Given the description of an element on the screen output the (x, y) to click on. 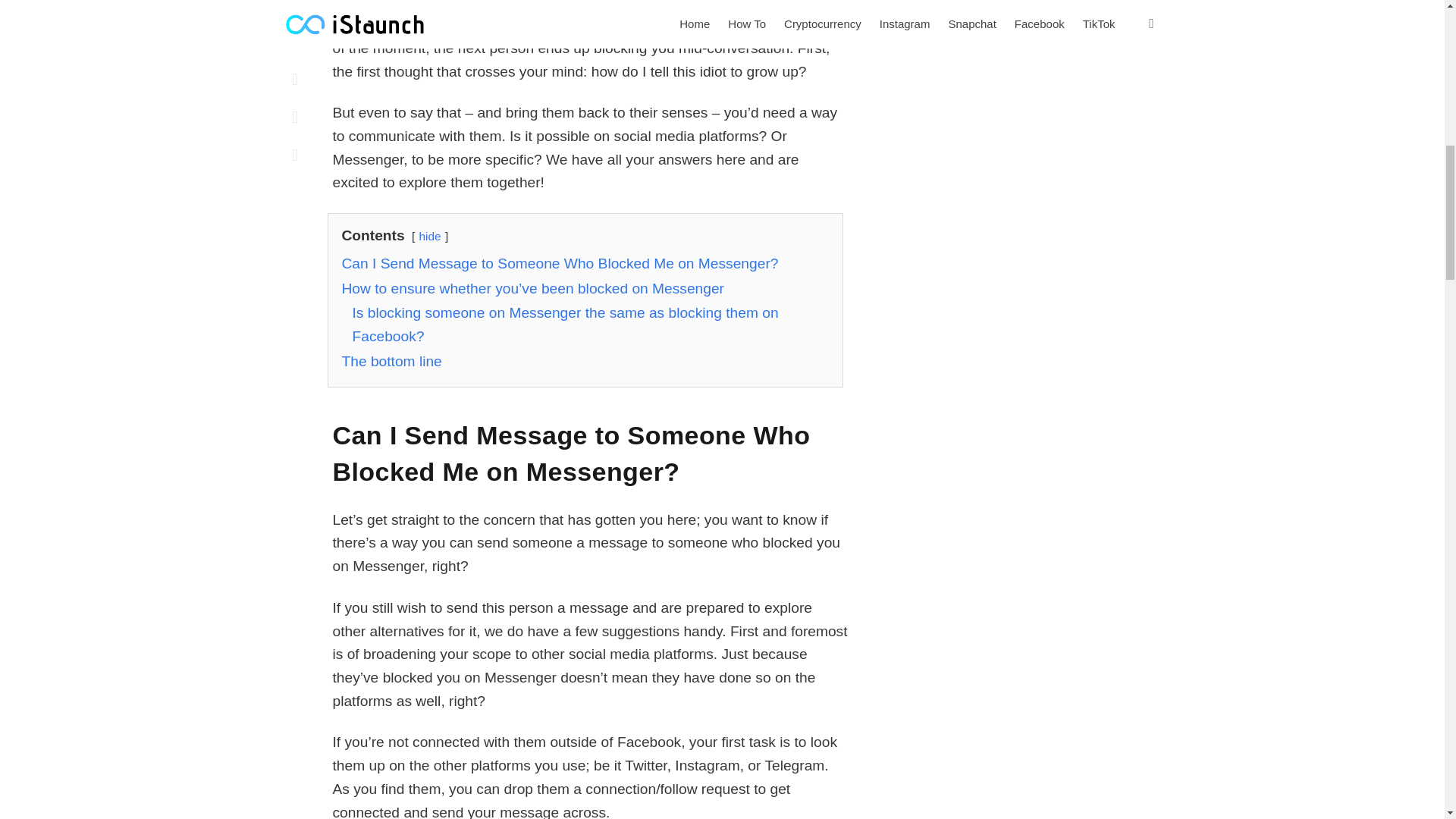
Can I Send Message to Someone Who Blocked Me on Messenger? (558, 263)
hide (430, 236)
The bottom line (390, 360)
